Given the description of an element on the screen output the (x, y) to click on. 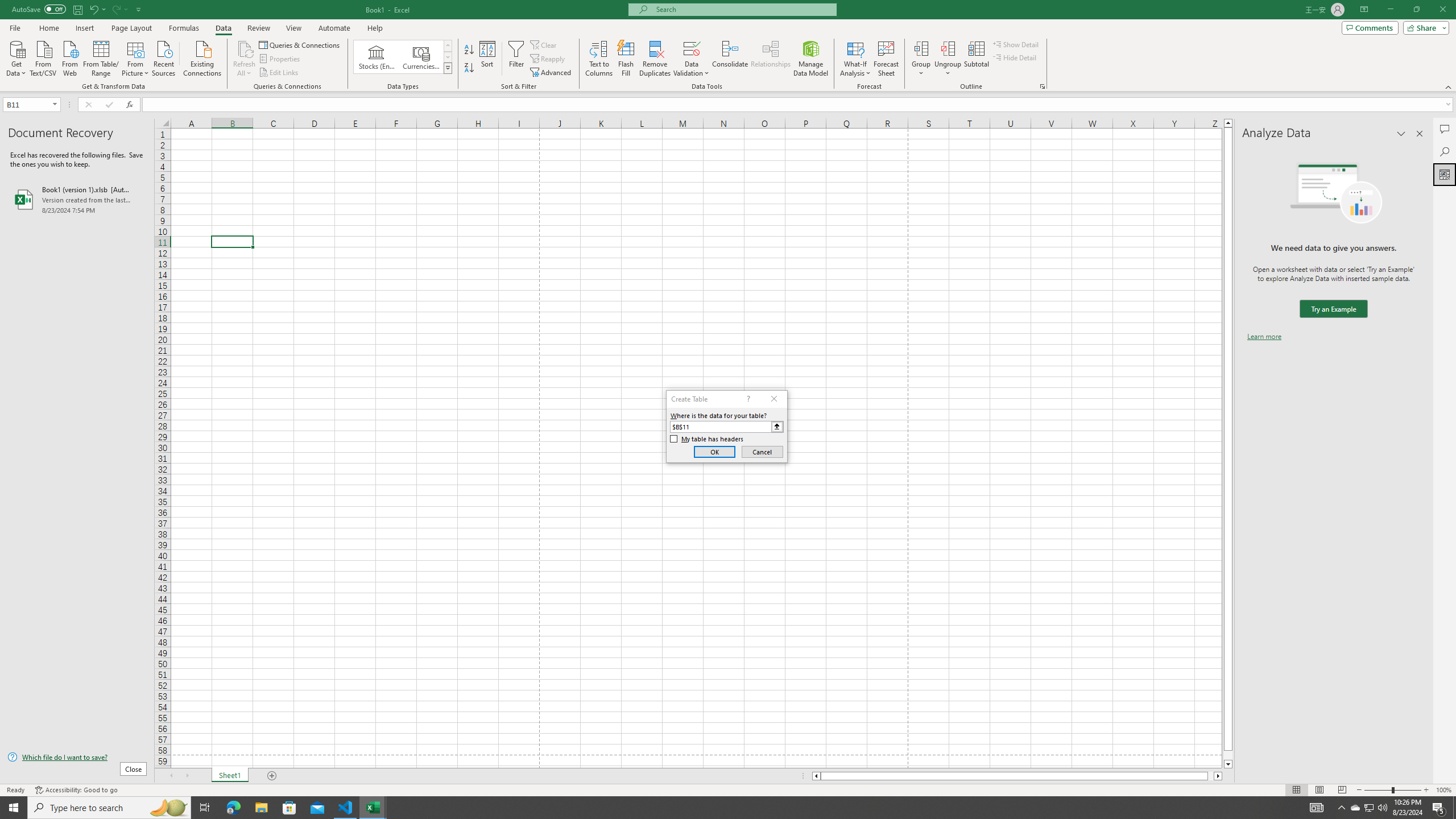
Consolidate... (729, 58)
